Given the description of an element on the screen output the (x, y) to click on. 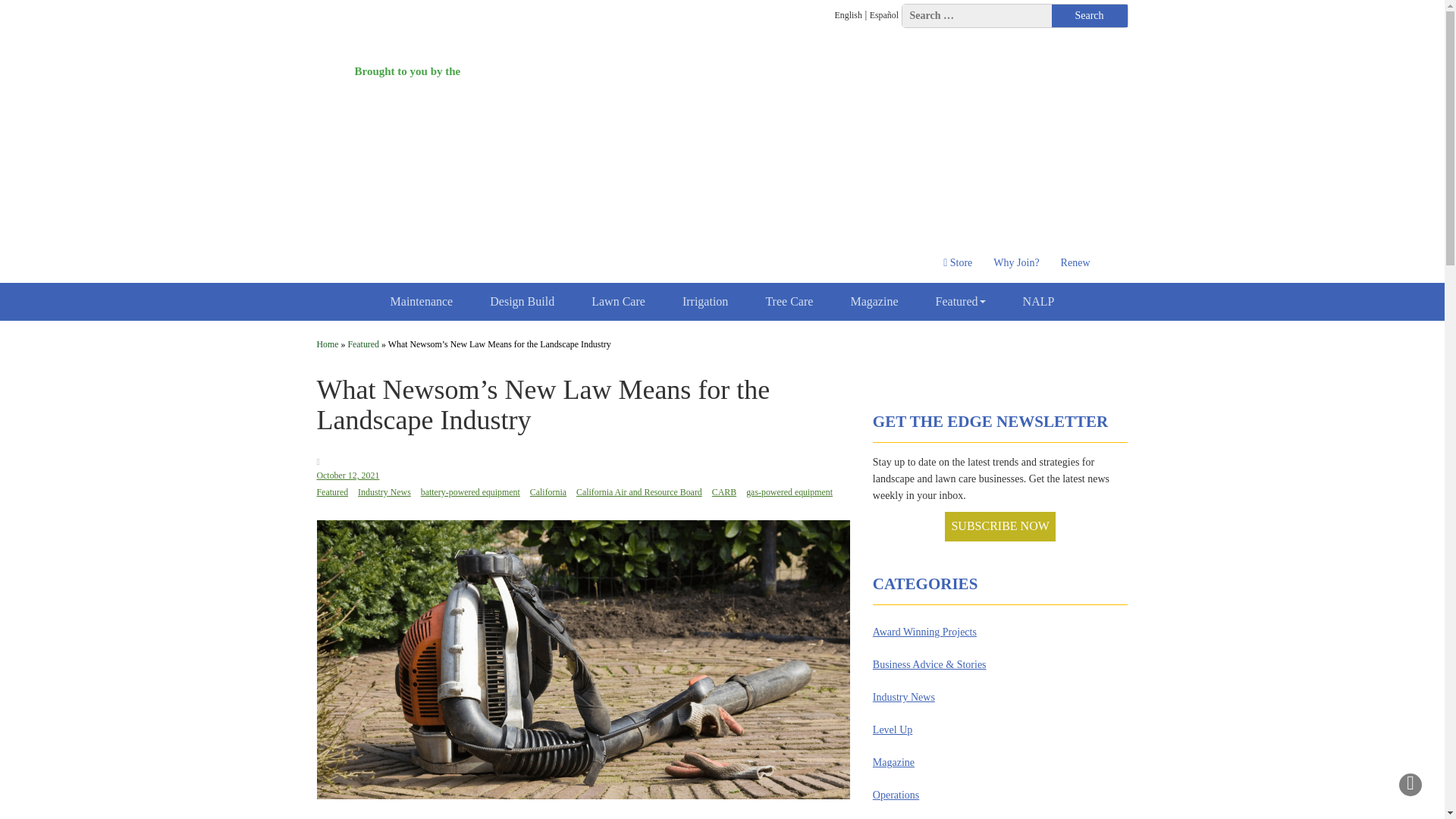
battery-powered equipment (469, 492)
Featured (362, 344)
Maintenance (421, 301)
Maintenance (421, 301)
English (847, 15)
Irrigation (705, 301)
Store (957, 263)
Featured (960, 301)
Tree Care (787, 301)
Why Join? (1015, 263)
